Given the description of an element on the screen output the (x, y) to click on. 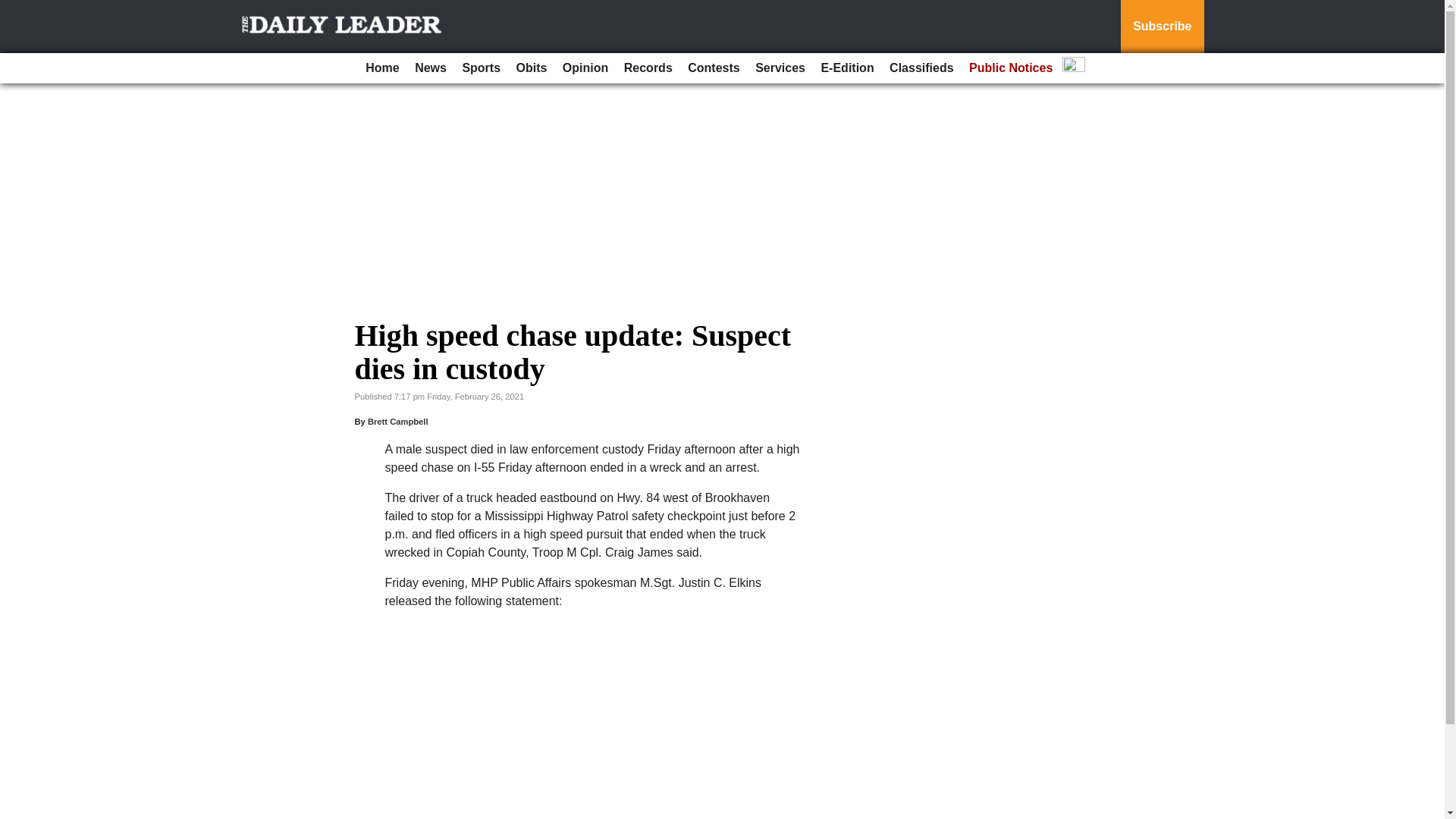
Sports (480, 68)
Go (13, 9)
Home (381, 68)
Subscribe (1162, 26)
Records (647, 68)
Public Notices (1010, 68)
News (430, 68)
Obits (532, 68)
E-Edition (846, 68)
Services (779, 68)
Classifieds (921, 68)
Contests (713, 68)
Brett Campbell (398, 420)
Opinion (585, 68)
